Given the description of an element on the screen output the (x, y) to click on. 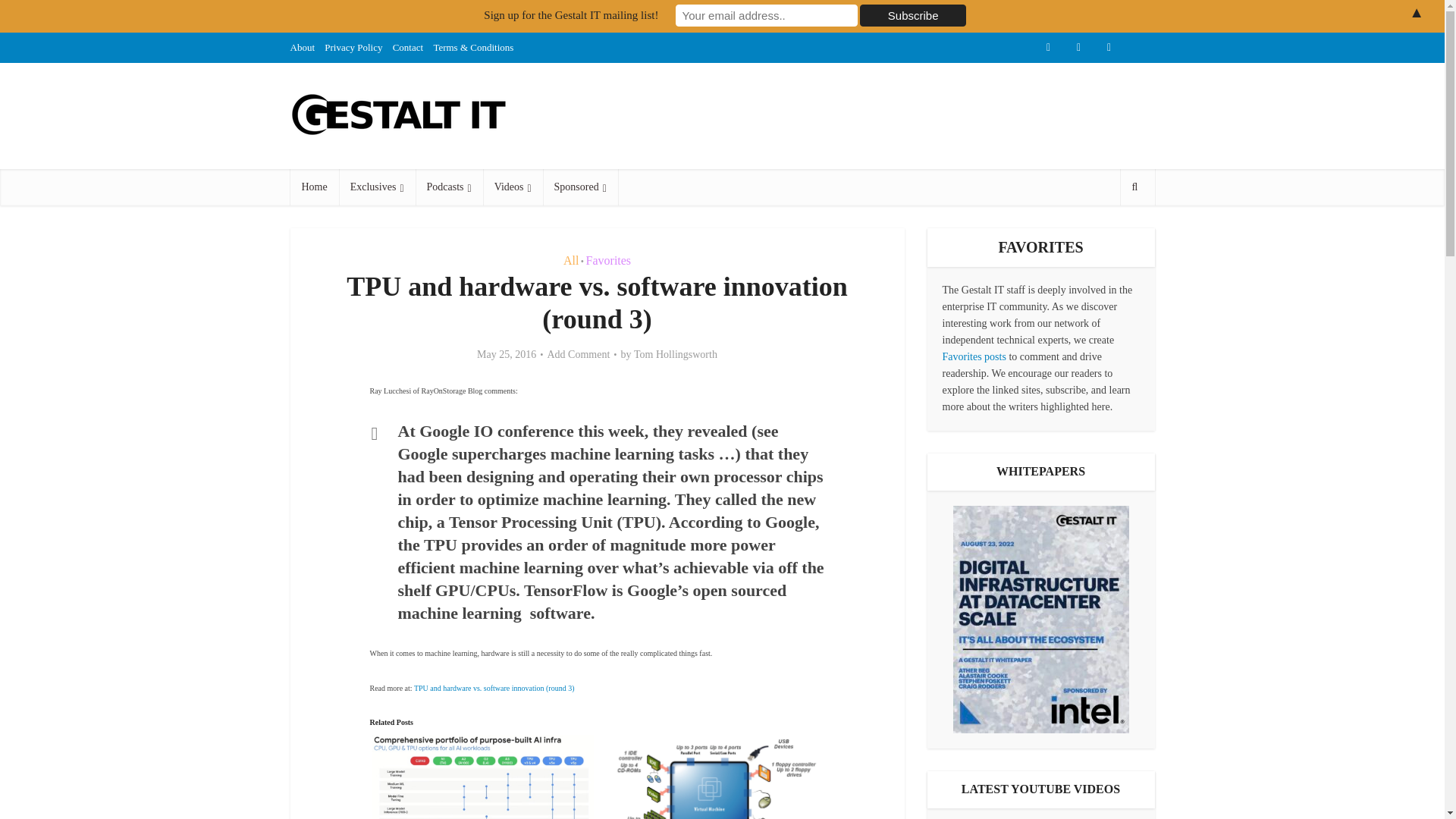
Subscribe (913, 15)
Home (313, 186)
Podcasts (448, 186)
Contact (408, 47)
About (301, 47)
Videos (513, 186)
Exclusives (376, 186)
Privacy Policy (352, 47)
Sponsored (580, 186)
